Given the description of an element on the screen output the (x, y) to click on. 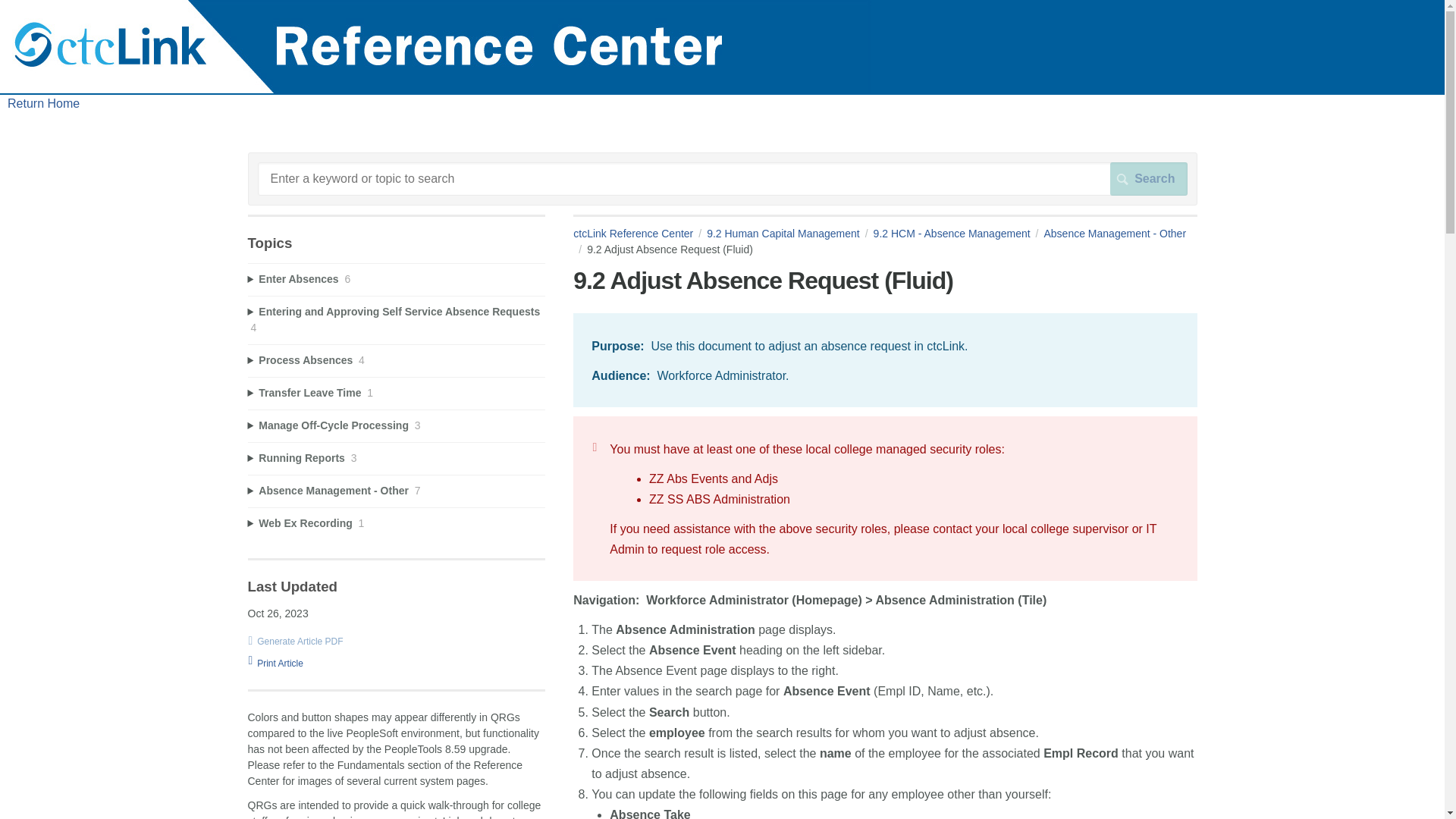
Search (1147, 178)
ctcLink Reference Center (639, 233)
Absence Management - Other (879, 241)
9.2 HCM - Absence Management (958, 233)
9.2 Human Capital Management (789, 233)
Search (1147, 178)
Search (1147, 178)
Return Home (43, 103)
